Given the description of an element on the screen output the (x, y) to click on. 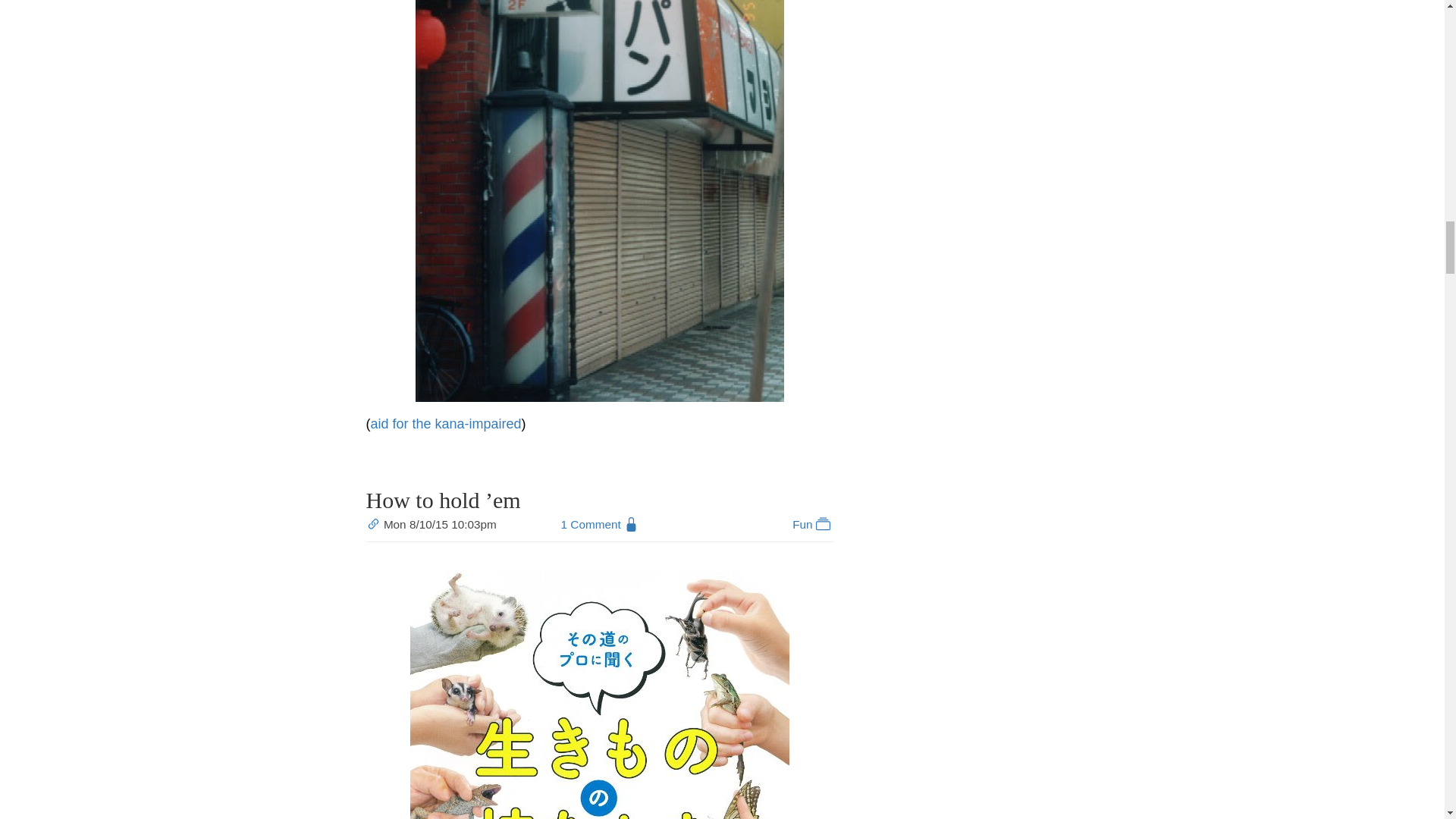
Fun   (812, 523)
1 Comment (590, 523)
aid for the kana-impaired (445, 423)
